Given the description of an element on the screen output the (x, y) to click on. 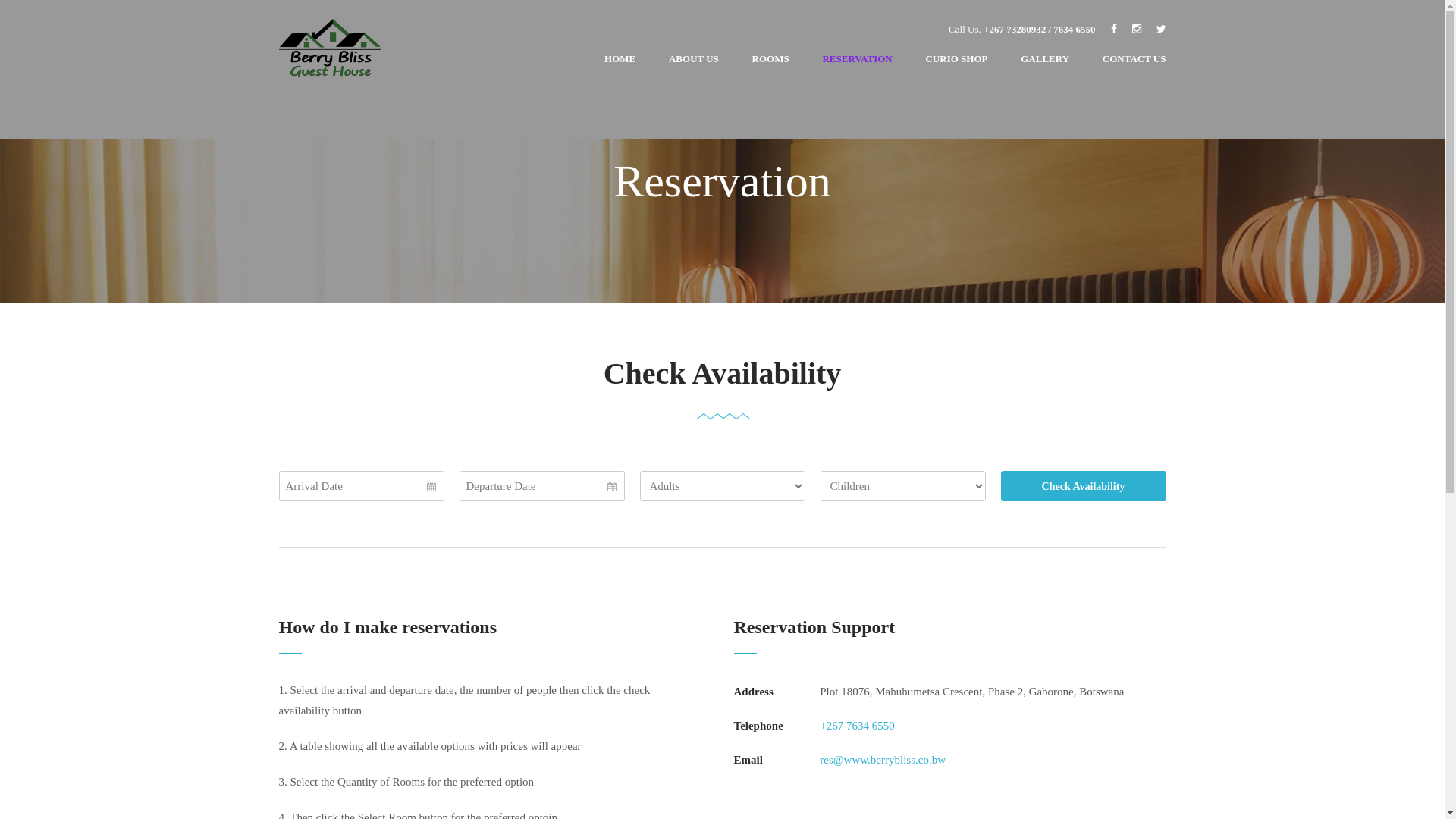
CONTACT US Element type: text (1126, 62)
ROOMS Element type: text (770, 62)
GALLERY Element type: text (1044, 62)
Check Availability Element type: text (1083, 485)
RESERVATION Element type: text (856, 62)
res@www.berrybliss.co.bw Element type: text (882, 759)
CURIO SHOP Element type: text (956, 62)
HOME Element type: text (619, 62)
+267 7634 6550 Element type: text (856, 725)
ABOUT US Element type: text (693, 62)
